Given the description of an element on the screen output the (x, y) to click on. 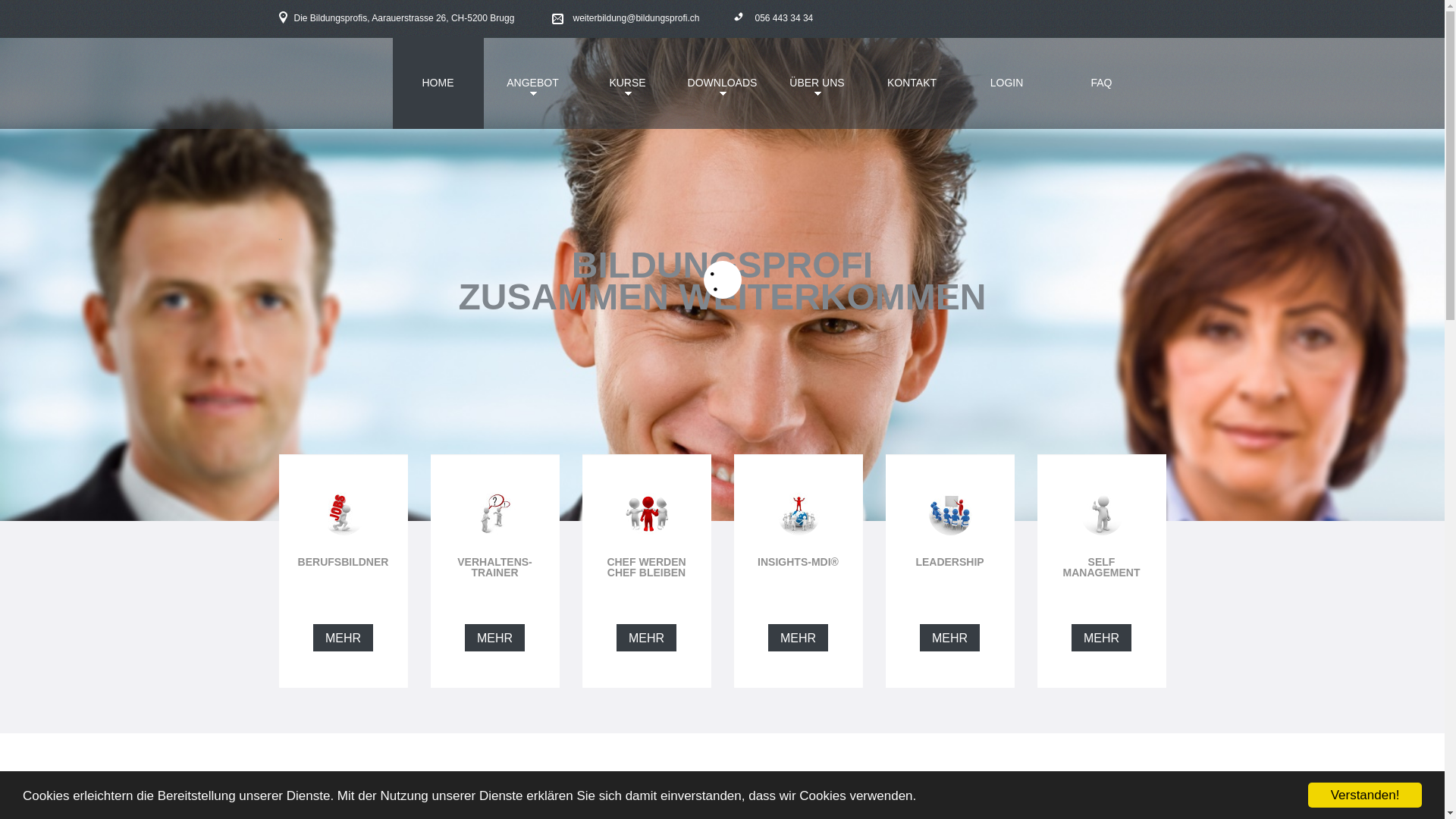
SELF
MANAGEMENT
MEHR Element type: text (1101, 626)
BERUFSBILDNER
MEHR Element type: text (343, 626)
FAQ Element type: text (1100, 82)
MEHR Element type: text (798, 637)
MEHR Element type: text (343, 637)
LOGIN Element type: text (1006, 82)
KONTAKT Element type: text (911, 82)
MEHR Element type: text (1101, 637)
VERHALTENS-
TRAINER
MEHR Element type: text (494, 626)
CHEF WERDEN
CHEF BLEIBEN
MEHR Element type: text (646, 626)
weiterbildung@bildungsprofi.ch Element type: text (625, 18)
MEHR Element type: text (494, 637)
MEHR Element type: text (646, 637)
MEHR Element type: text (949, 637)
Verstanden! Element type: text (1364, 794)
LEADERSHIP
MEHR Element type: text (949, 626)
HOME Element type: text (437, 82)
